Given the description of an element on the screen output the (x, y) to click on. 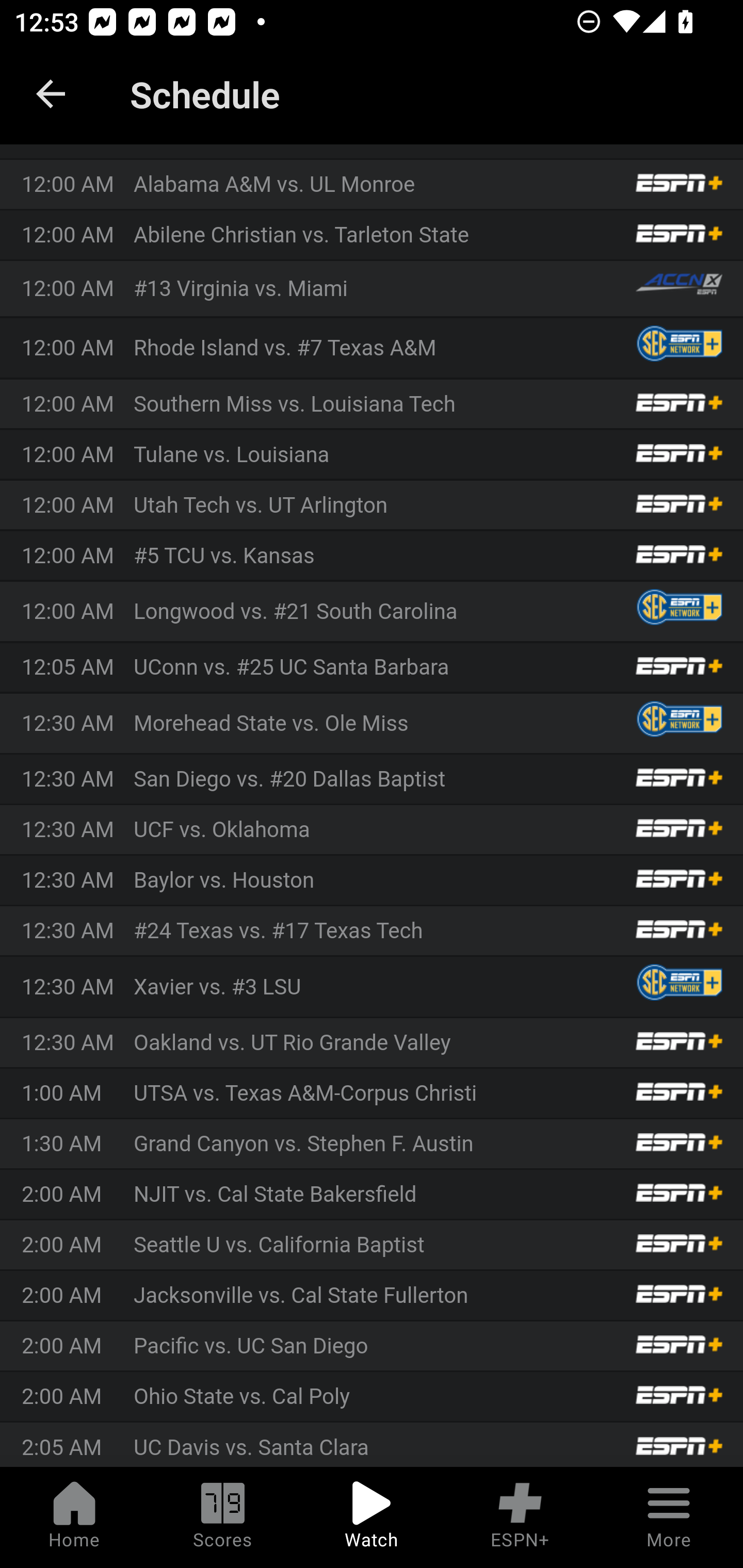
back.button (50, 93)
Home (74, 1517)
Scores (222, 1517)
ESPN+ (519, 1517)
More (668, 1517)
